Given the description of an element on the screen output the (x, y) to click on. 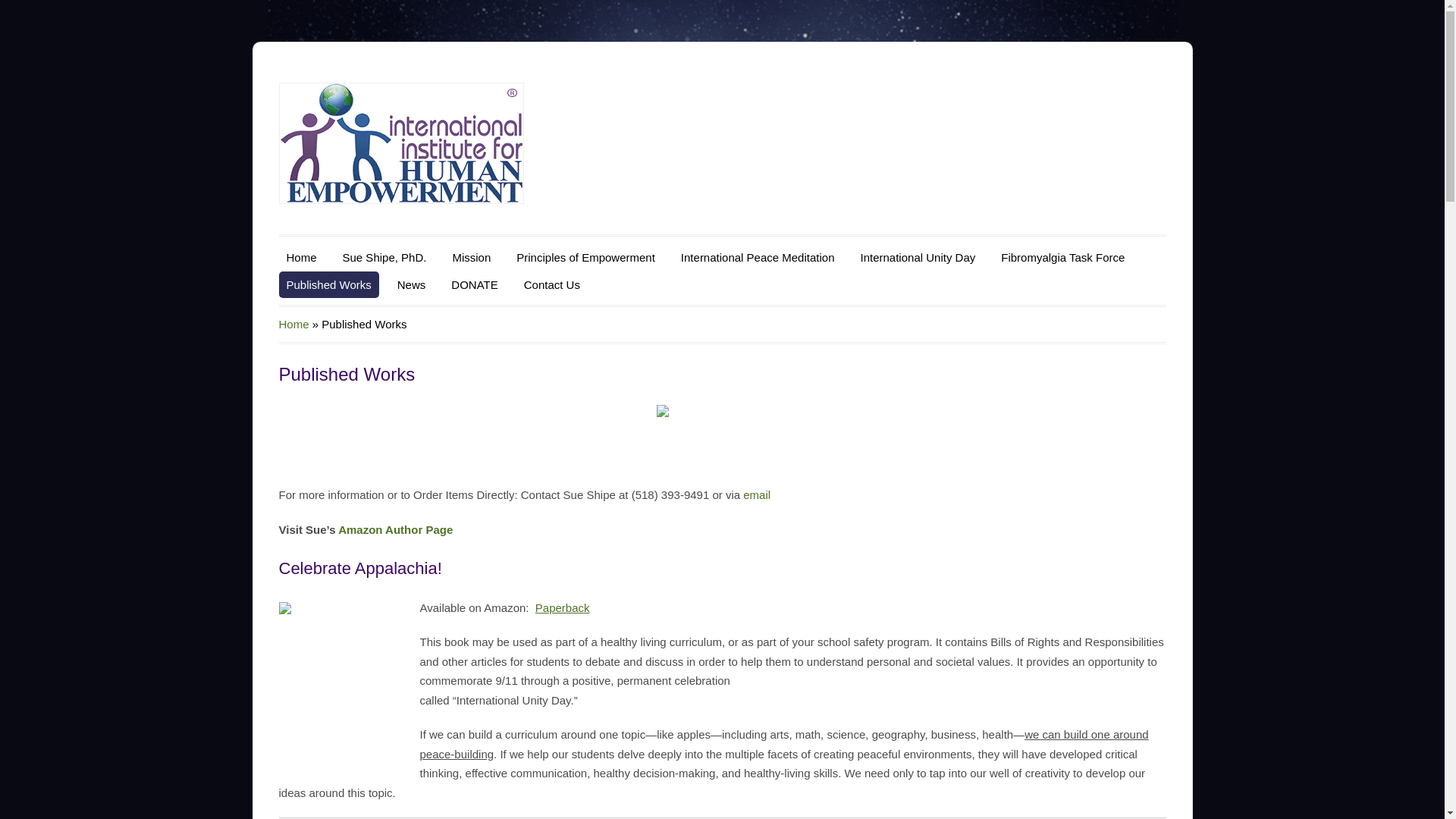
Home (293, 323)
Paperback (562, 607)
International Unity Day (916, 257)
News (411, 284)
Published Works (328, 284)
Principles of Empowerment (585, 257)
Mission (470, 257)
DONATE (474, 284)
Sue Shipe, PhD. (383, 257)
Contact Us (552, 284)
Fibromyalgia Task Force (1062, 257)
Amazon Author Page (394, 529)
International Peace Meditation (757, 257)
Home (301, 257)
email (756, 494)
